Given the description of an element on the screen output the (x, y) to click on. 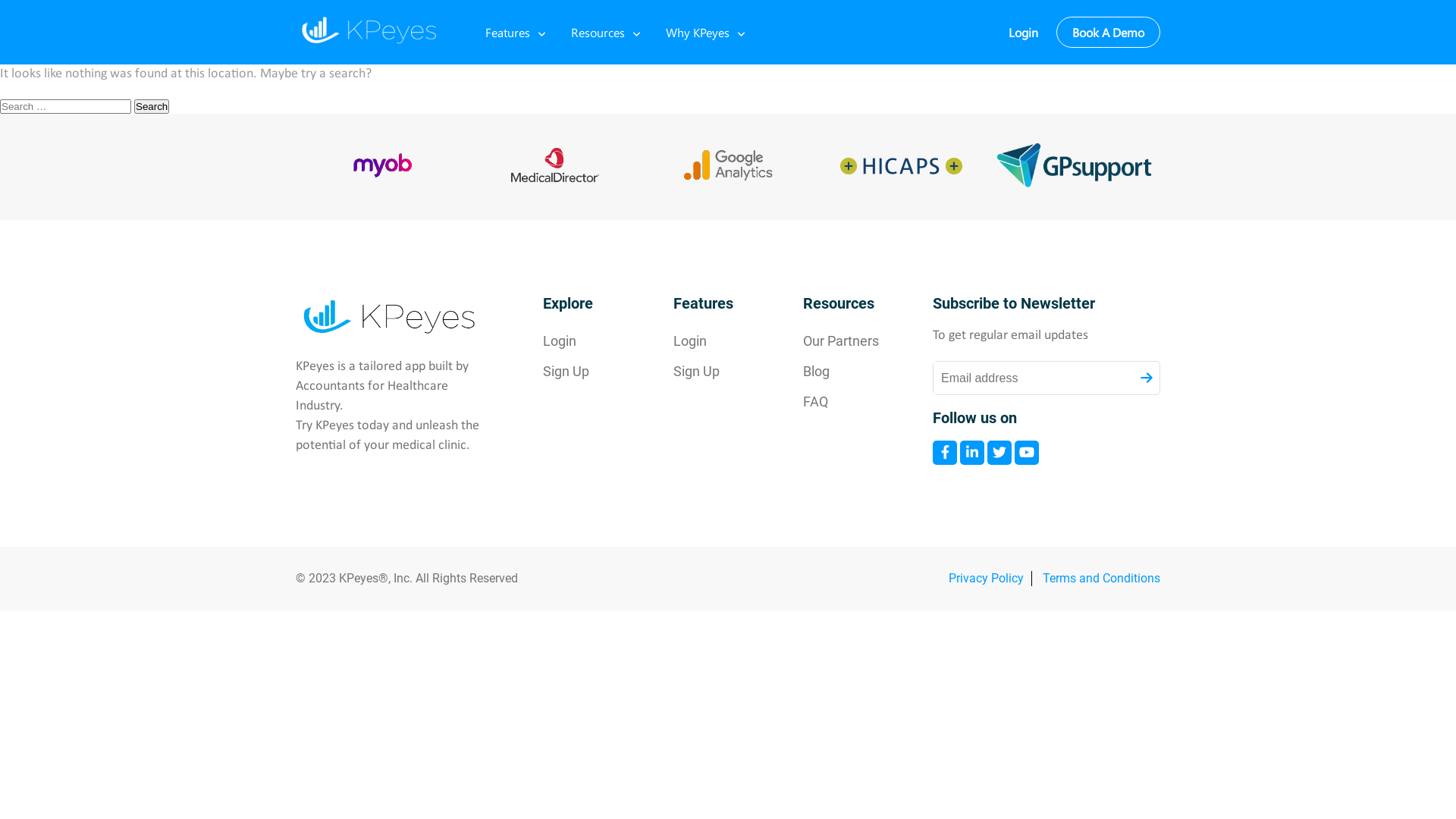
Privacy Policy Element type: text (985, 578)
Blog Element type: text (840, 371)
kpeyes logo Element type: hover (392, 316)
KPeyes Element type: hover (371, 30)
Send Element type: text (1145, 377)
Login Element type: text (580, 341)
Login Element type: text (1023, 32)
Resources Element type: text (597, 32)
Sign Up Element type: text (711, 371)
Login Element type: text (711, 341)
FAQ Element type: text (840, 401)
Features Element type: text (507, 32)
Search Element type: text (151, 106)
Sign Up Element type: text (580, 371)
Why KPeyes Element type: text (697, 32)
Our Partners Element type: text (840, 341)
Terms and Conditions Element type: text (1101, 578)
Book A Demo Element type: text (1108, 31)
